Given the description of an element on the screen output the (x, y) to click on. 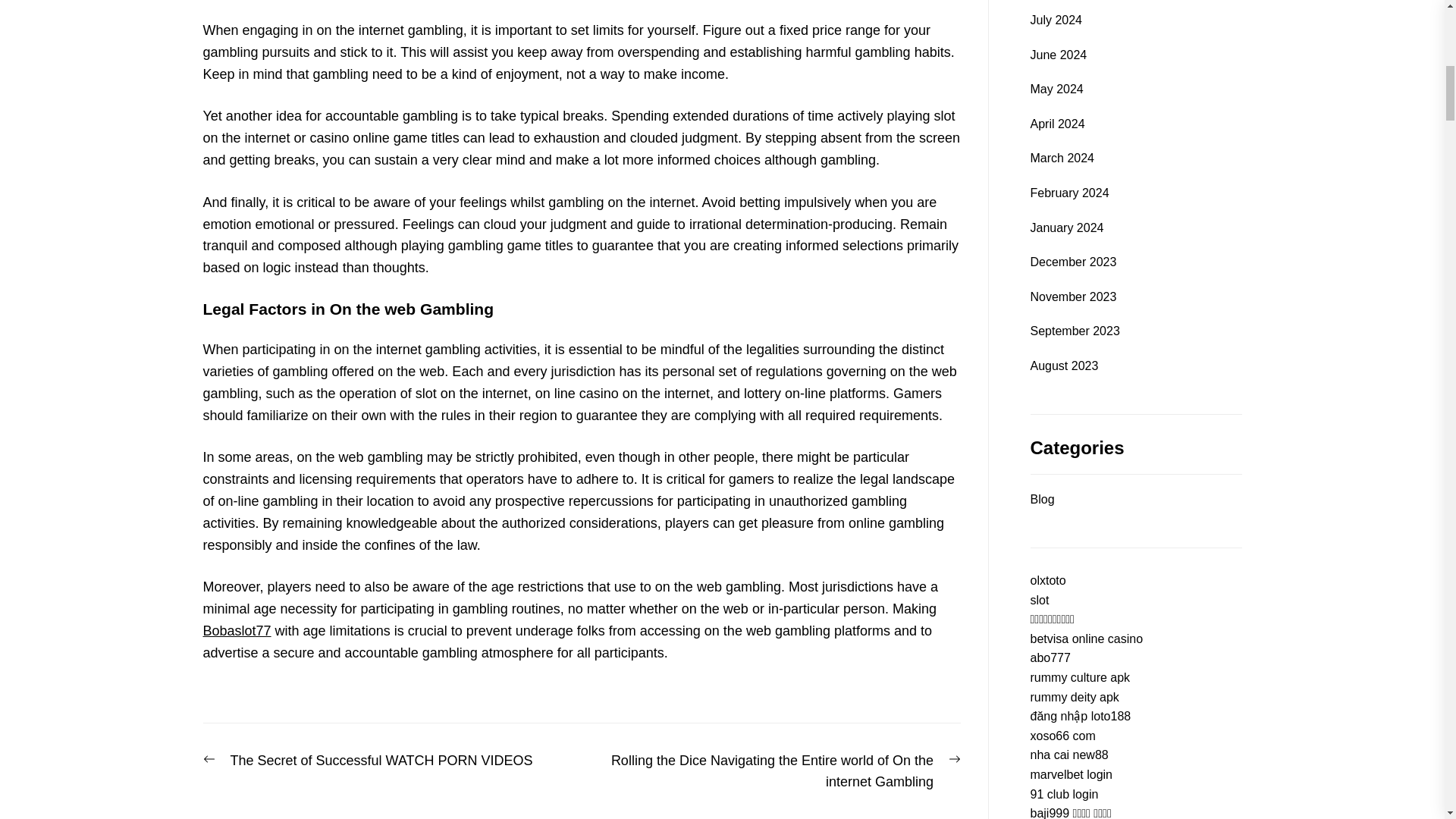
June 2024 (1057, 55)
Bobaslot77 (236, 630)
February 2024 (1068, 193)
March 2024 (367, 761)
May 2024 (1061, 158)
September 2023 (1056, 89)
Blog (1074, 331)
July 2024 (1041, 499)
November 2023 (1055, 20)
April 2024 (1072, 297)
January 2024 (1056, 124)
olxtoto (1066, 228)
December 2023 (1047, 580)
